Given the description of an element on the screen output the (x, y) to click on. 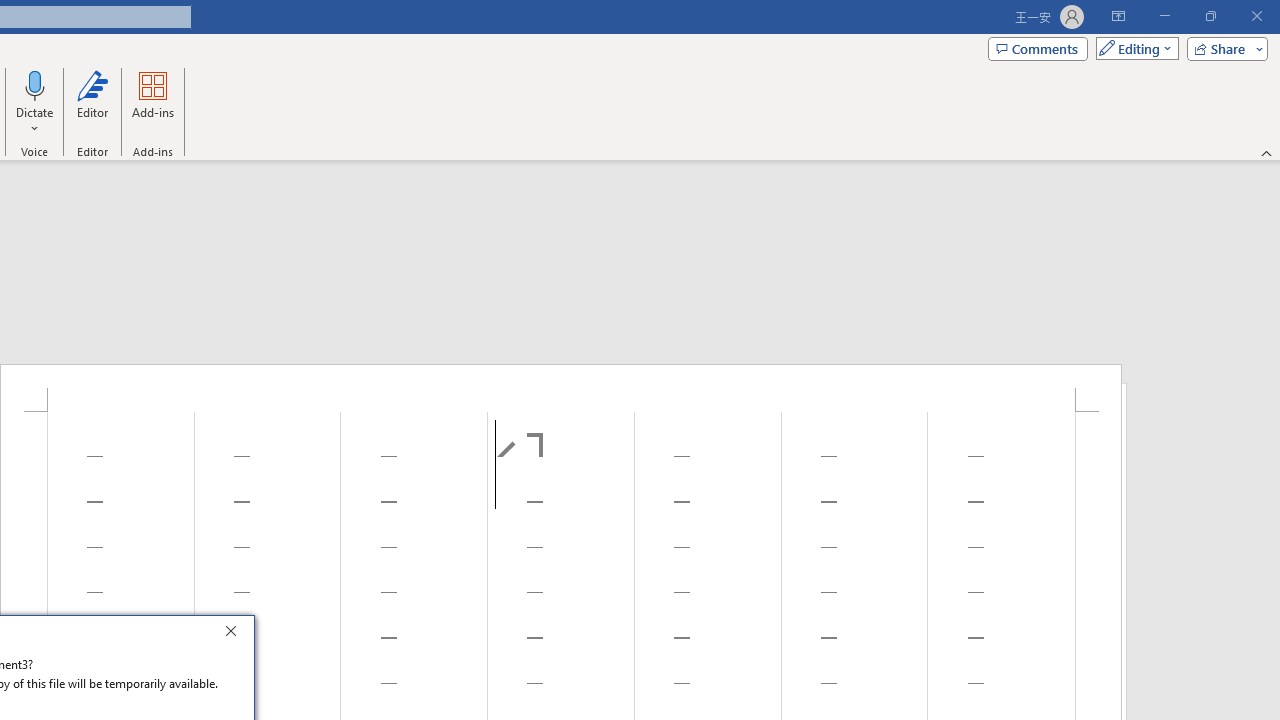
Header -Section 1- (561, 387)
